Given the description of an element on the screen output the (x, y) to click on. 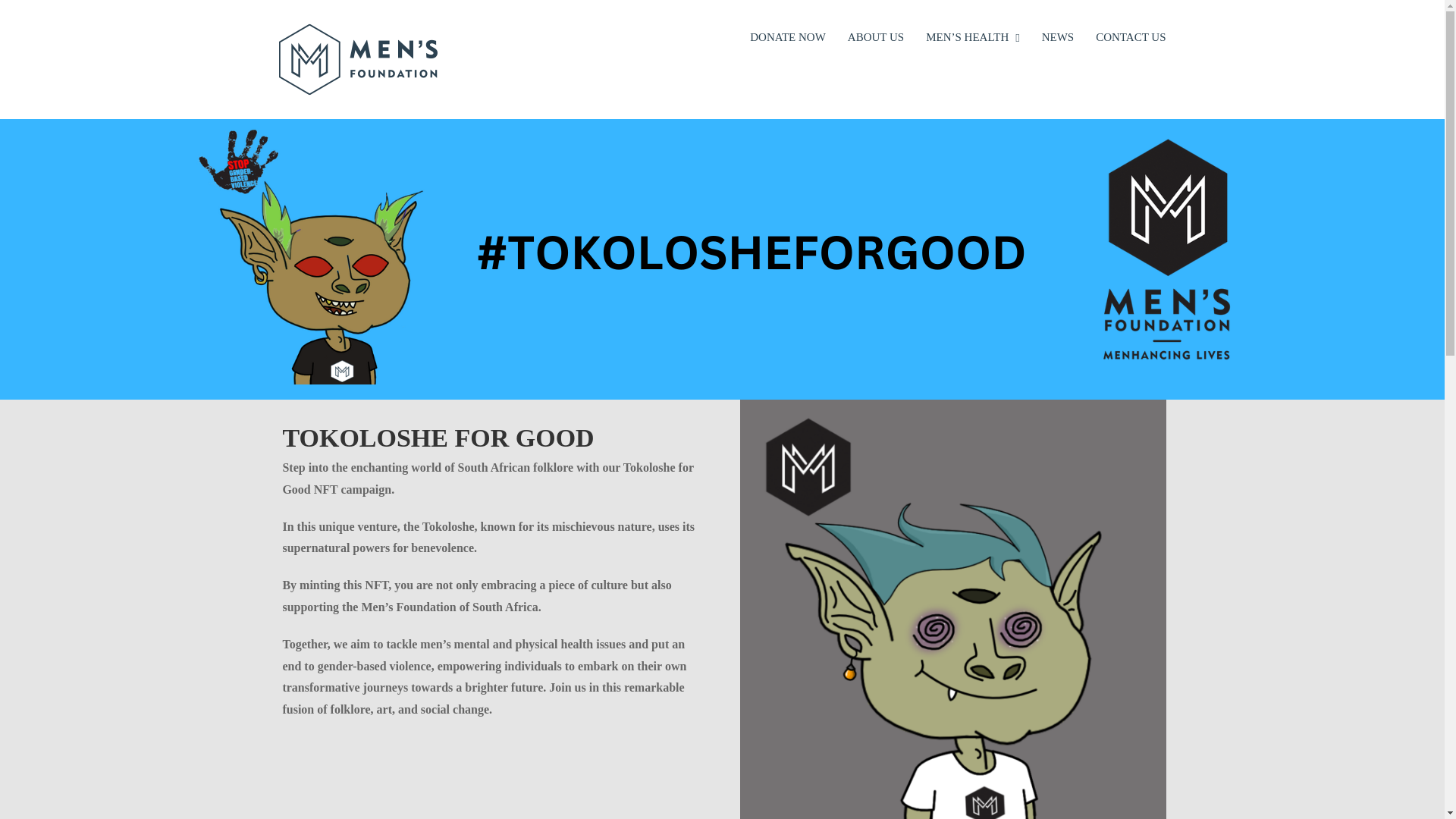
CONTACT US (1131, 36)
DONATE NOW (787, 36)
